Given the description of an element on the screen output the (x, y) to click on. 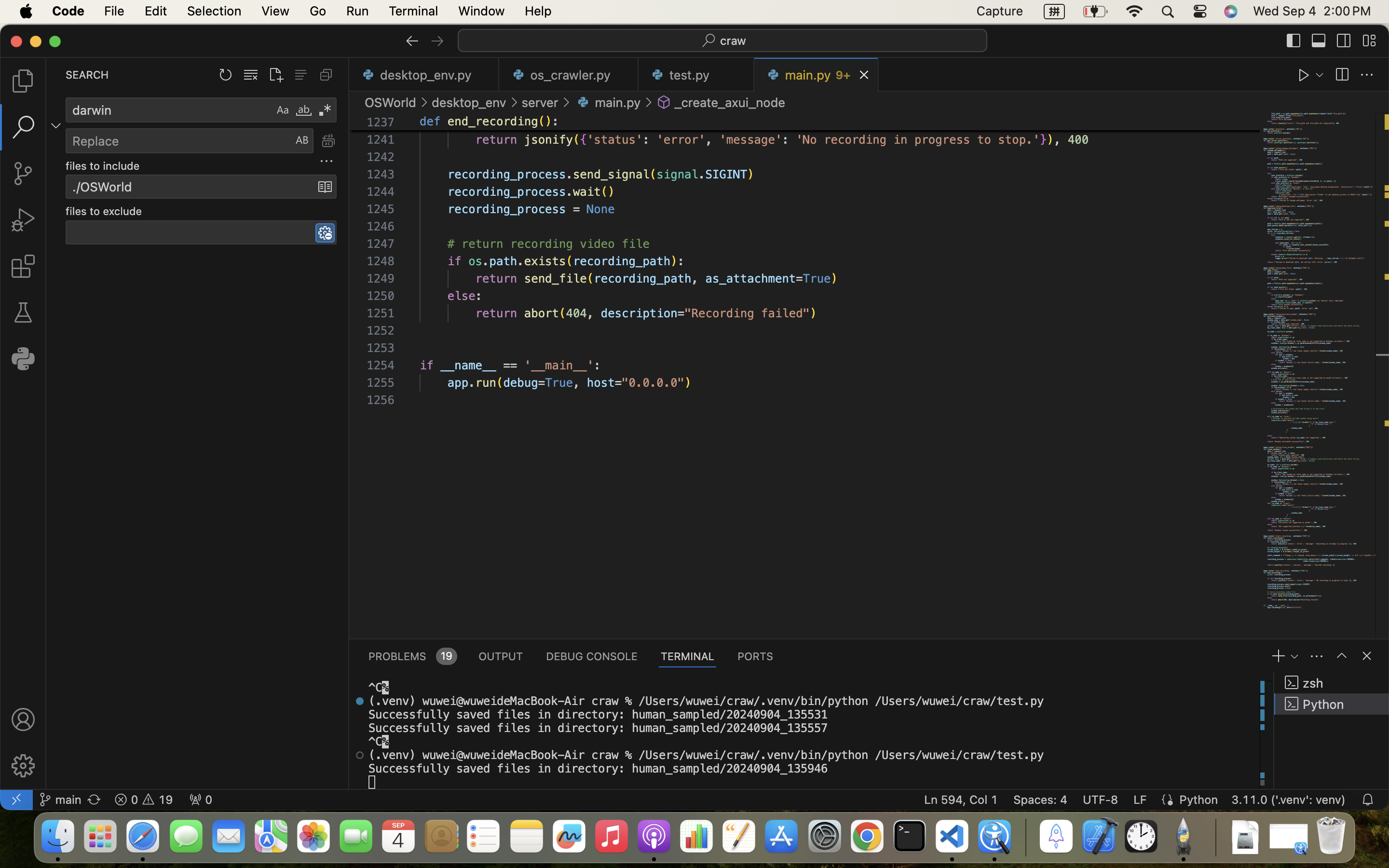
0 PROBLEMS 19 Element type: AXRadioButton (411, 655)
0 OUTPUT Element type: AXRadioButton (500, 655)
 Element type: AXGroup (23, 266)
0 DEBUG CONSOLE Element type: AXRadioButton (591, 655)
0 os_crawler.py   Element type: AXRadioButton (568, 74)
